Given the description of an element on the screen output the (x, y) to click on. 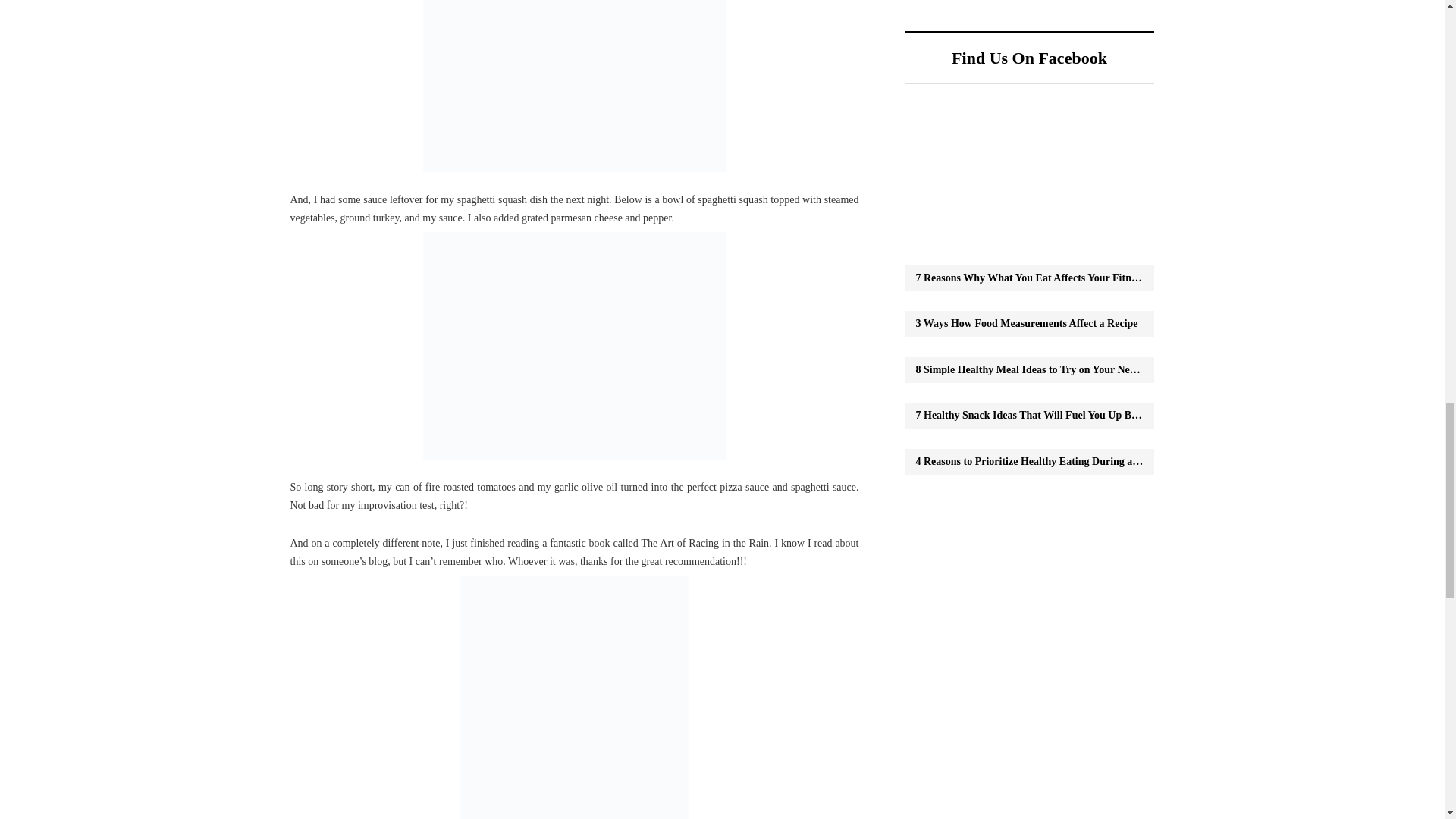
My Iron Chef Test (574, 696)
My Iron Chef Test (574, 345)
My Iron Chef Test (574, 85)
